Given the description of an element on the screen output the (x, y) to click on. 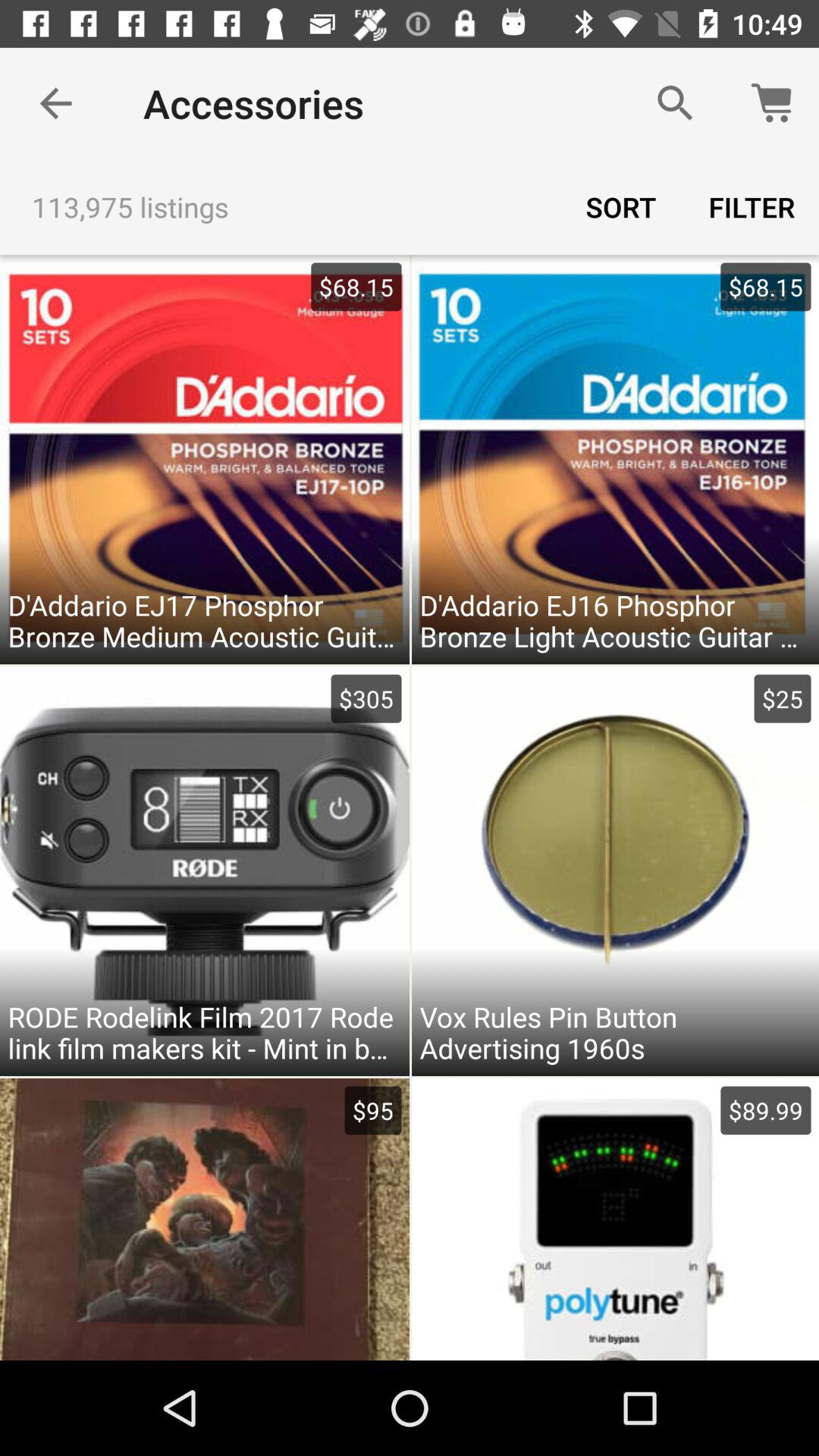
turn on the item next to the 113,975 listings (620, 206)
